Given the description of an element on the screen output the (x, y) to click on. 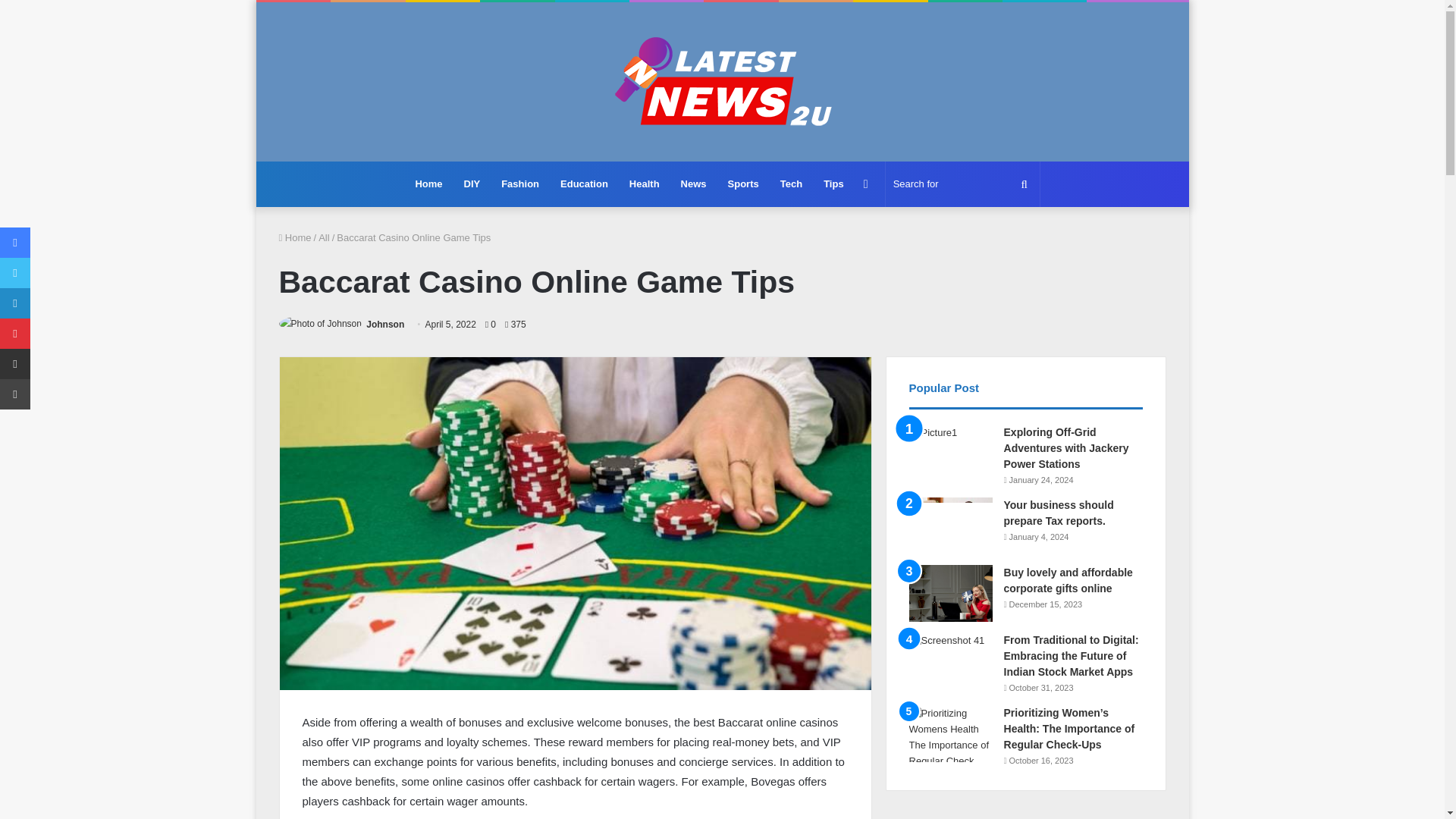
Health (643, 184)
LatestNews2u (721, 81)
Fashion (520, 184)
News (693, 184)
Search for (962, 184)
Johnson (385, 324)
Home (295, 237)
Education (584, 184)
Tech (791, 184)
Home (428, 184)
